Given the description of an element on the screen output the (x, y) to click on. 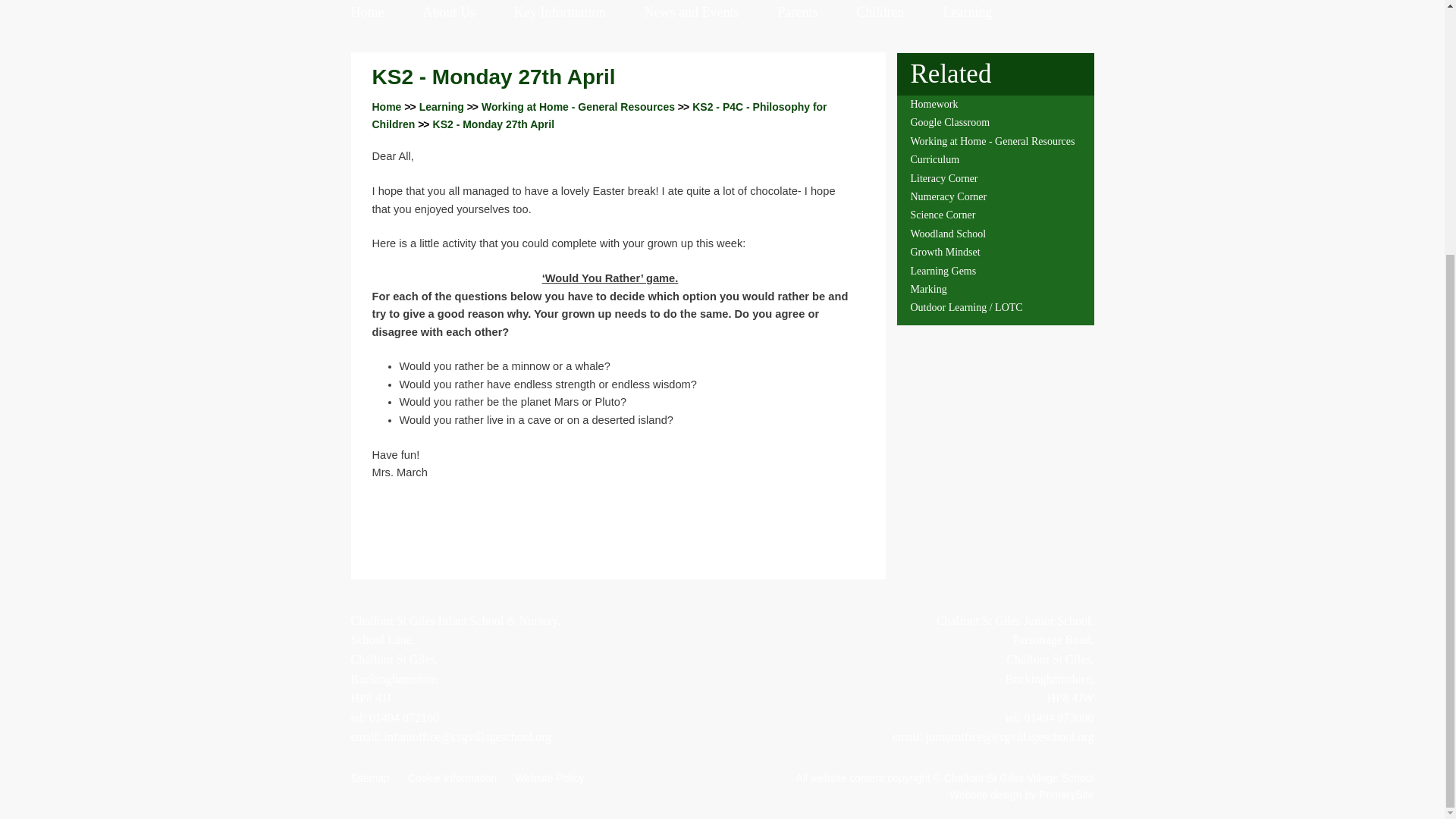
About Us (449, 12)
KS2 - P4C - Philosophy for Children (599, 114)
Key Information (559, 12)
KS2 - Monday 27th April (493, 123)
Working at Home - General Resources (578, 106)
Learning (441, 106)
Home (386, 106)
Home (367, 12)
